Given the description of an element on the screen output the (x, y) to click on. 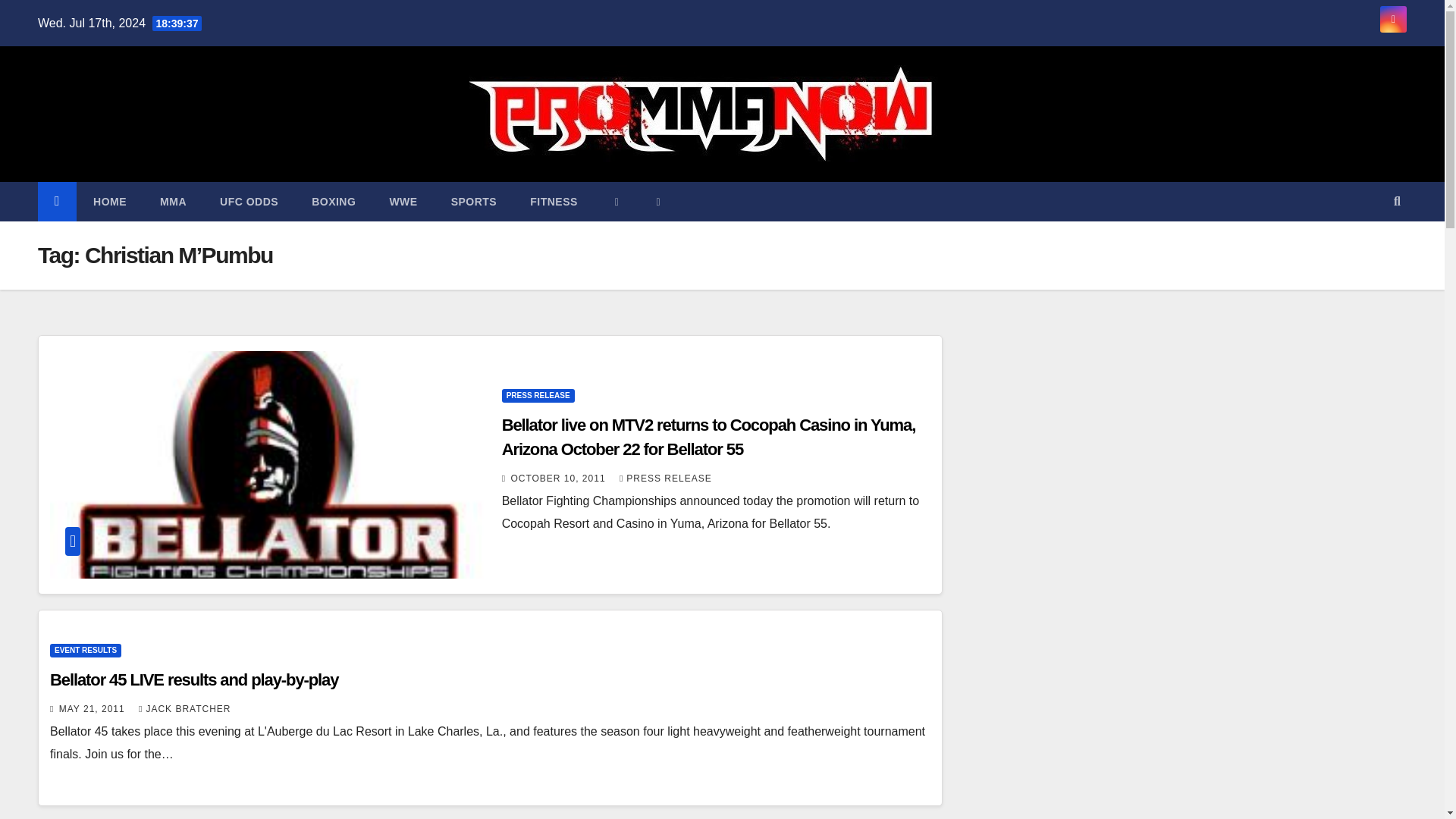
SPORTS (473, 201)
Boxing (333, 201)
PRESS RELEASE (538, 395)
MAY 21, 2011 (93, 708)
JACK BRATCHER (184, 708)
UFC ODDS (249, 201)
OCTOBER 10, 2011 (559, 478)
Sports (473, 201)
MMA (172, 201)
Fitness (553, 201)
UFC Odds (249, 201)
PRESS RELEASE (665, 478)
BOXING (333, 201)
EVENT RESULTS (84, 650)
